Given the description of an element on the screen output the (x, y) to click on. 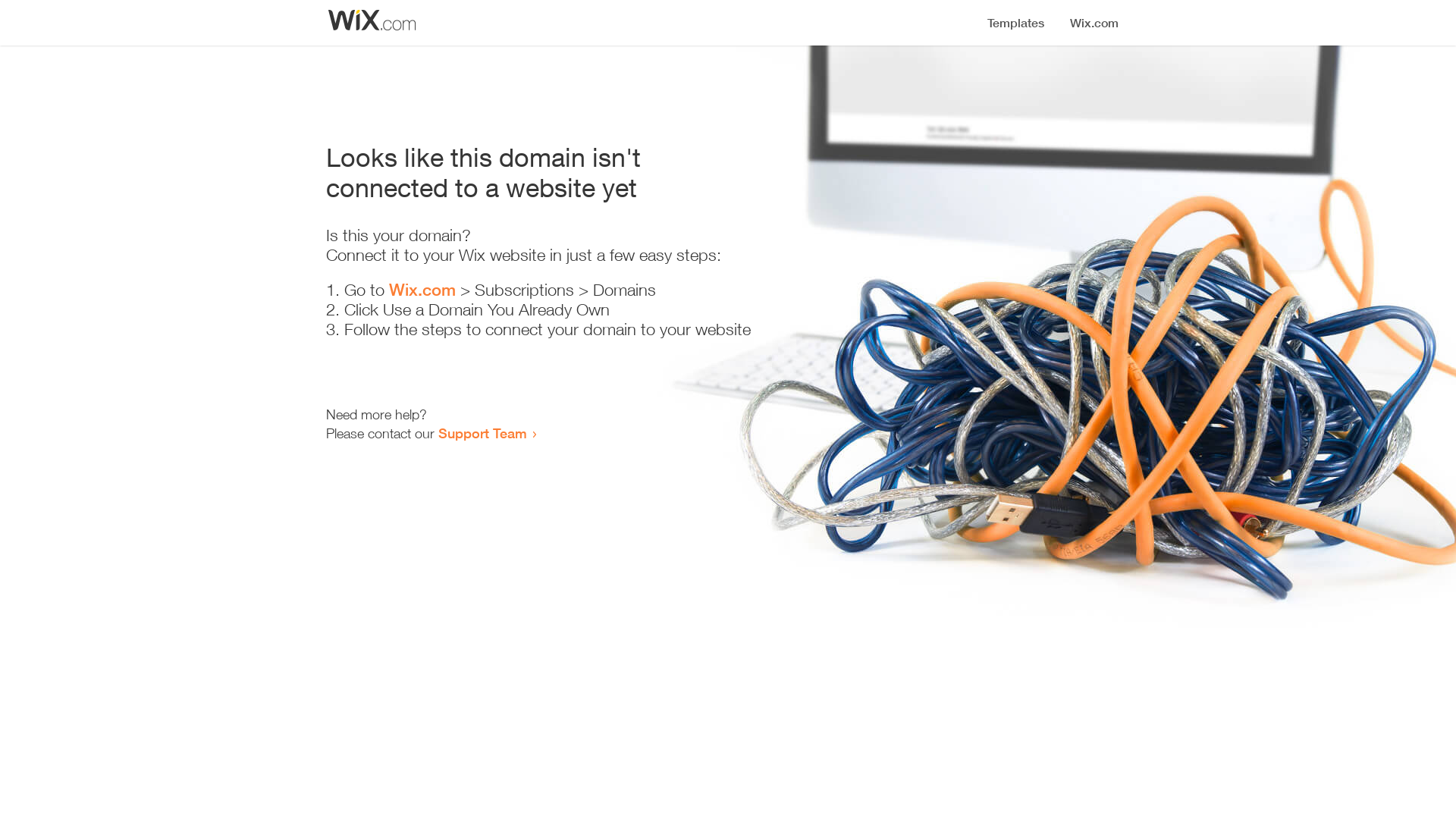
Wix.com Element type: text (422, 289)
Support Team Element type: text (482, 432)
